Given the description of an element on the screen output the (x, y) to click on. 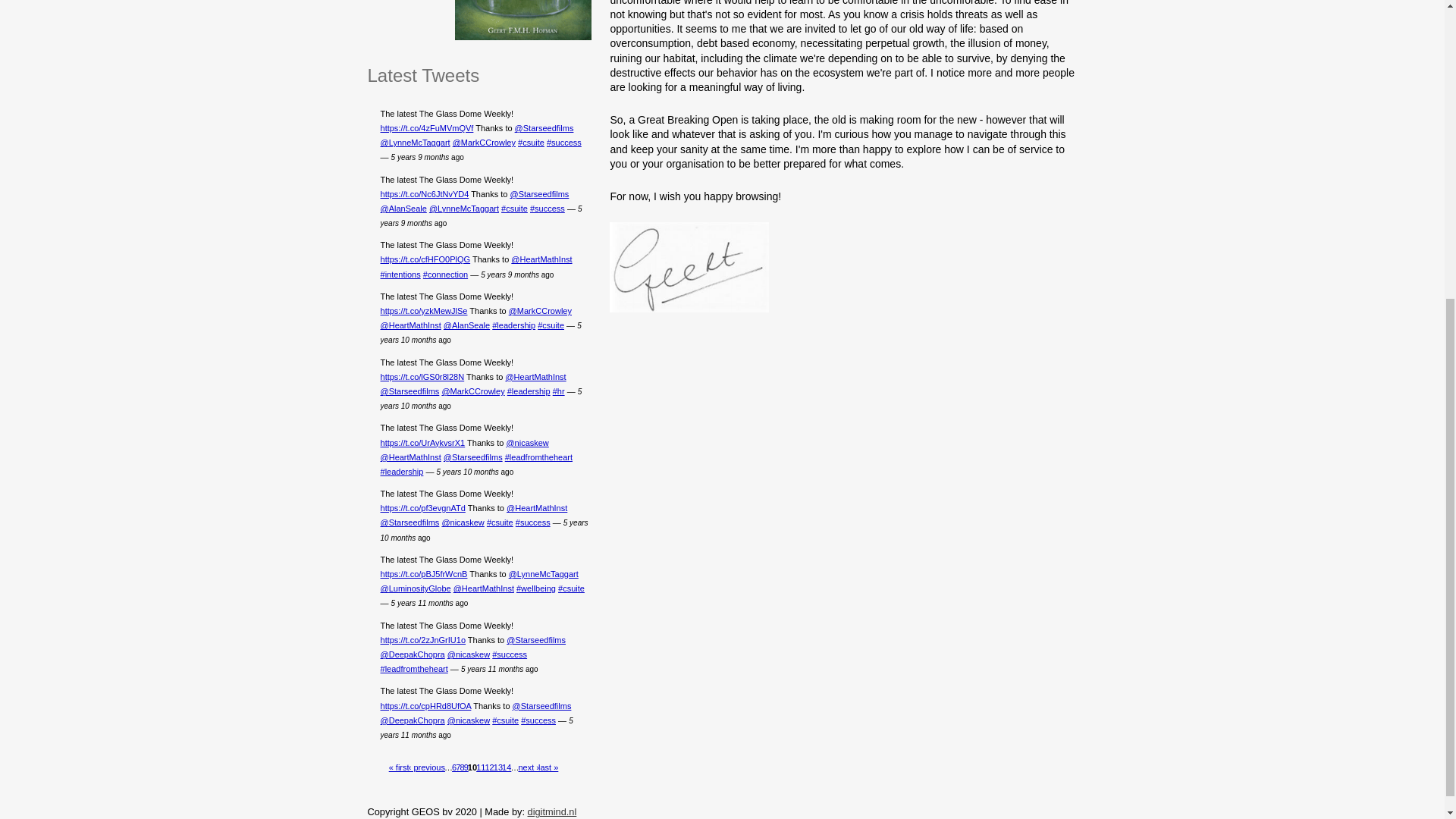
Go to first page (398, 767)
Go to page 11 (480, 767)
Go to page 12 (488, 767)
Go to page 13 (497, 767)
Go to page 14 (506, 767)
Go to next page (528, 767)
Go to last page (547, 767)
Go to previous page (427, 767)
